Given the description of an element on the screen output the (x, y) to click on. 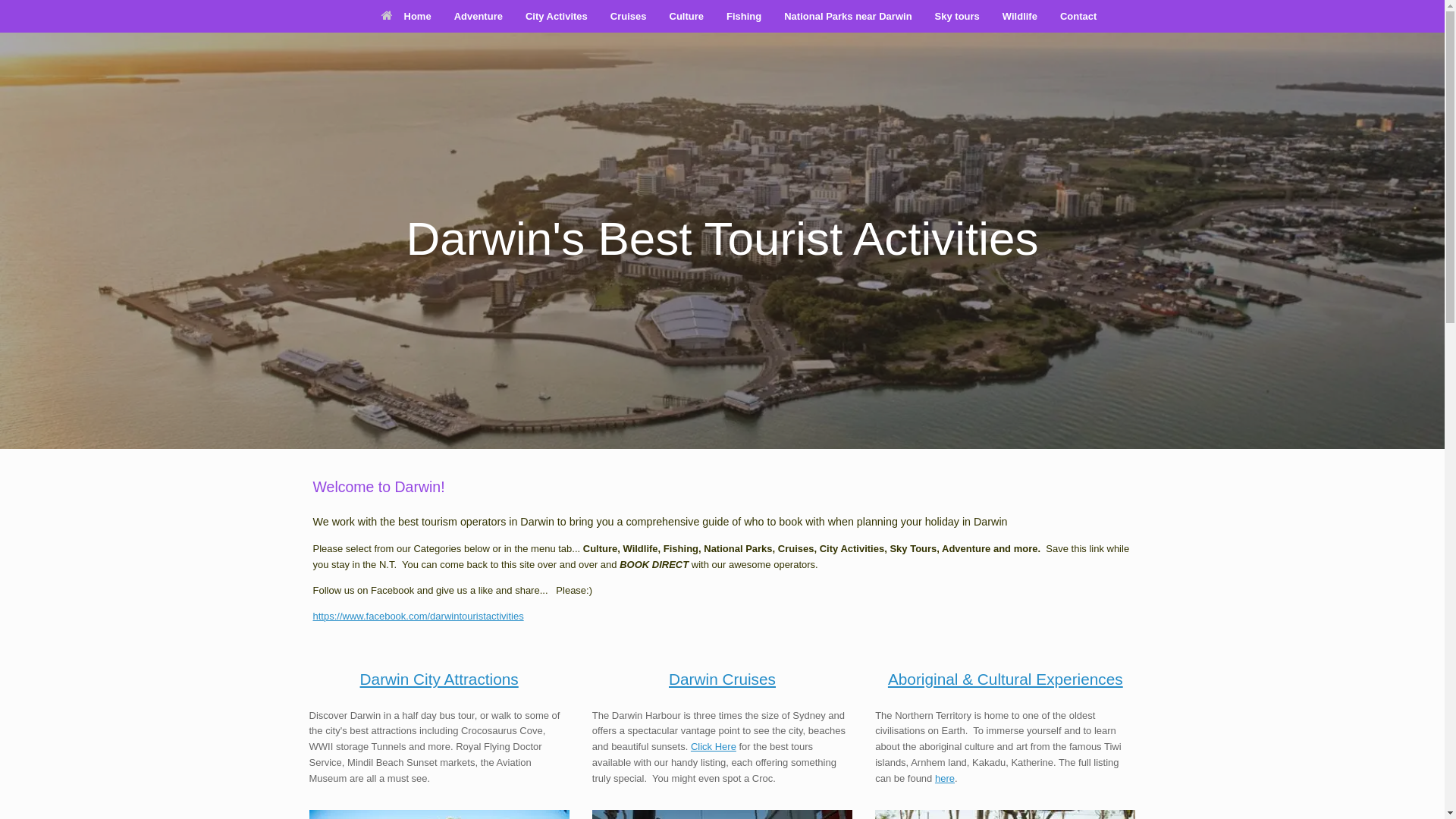
Adventure Element type: text (478, 16)
Fishing Element type: text (743, 16)
Home Element type: text (406, 16)
Darwin City Attractions Element type: text (439, 678)
https://www.facebook.com/darwintouristactivities Element type: text (417, 615)
Aboriginal & Cultural Experiences Element type: text (1005, 678)
Cruises Element type: text (628, 16)
Click Here Element type: text (713, 746)
Wildlife Element type: text (1019, 16)
Culture Element type: text (686, 16)
Darwin Cruises Element type: text (721, 678)
here Element type: text (944, 778)
Sky tours Element type: text (957, 16)
Contact Element type: text (1077, 16)
National Parks near Darwin Element type: text (847, 16)
City Activites Element type: text (556, 16)
